Given the description of an element on the screen output the (x, y) to click on. 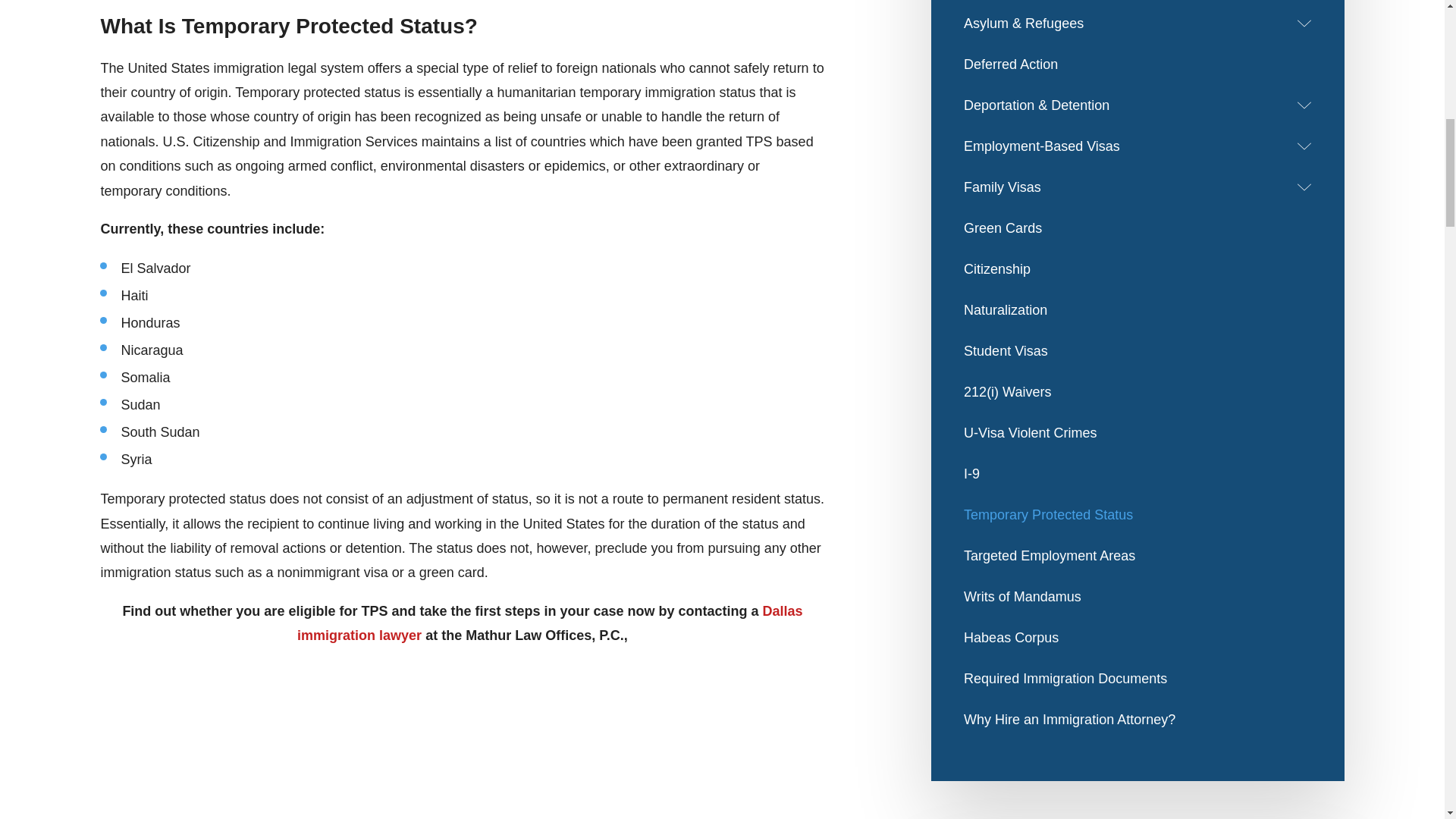
Open child menu of Family Visas (1304, 187)
Open child menu of Employment-Based Visas (1304, 146)
